Given the description of an element on the screen output the (x, y) to click on. 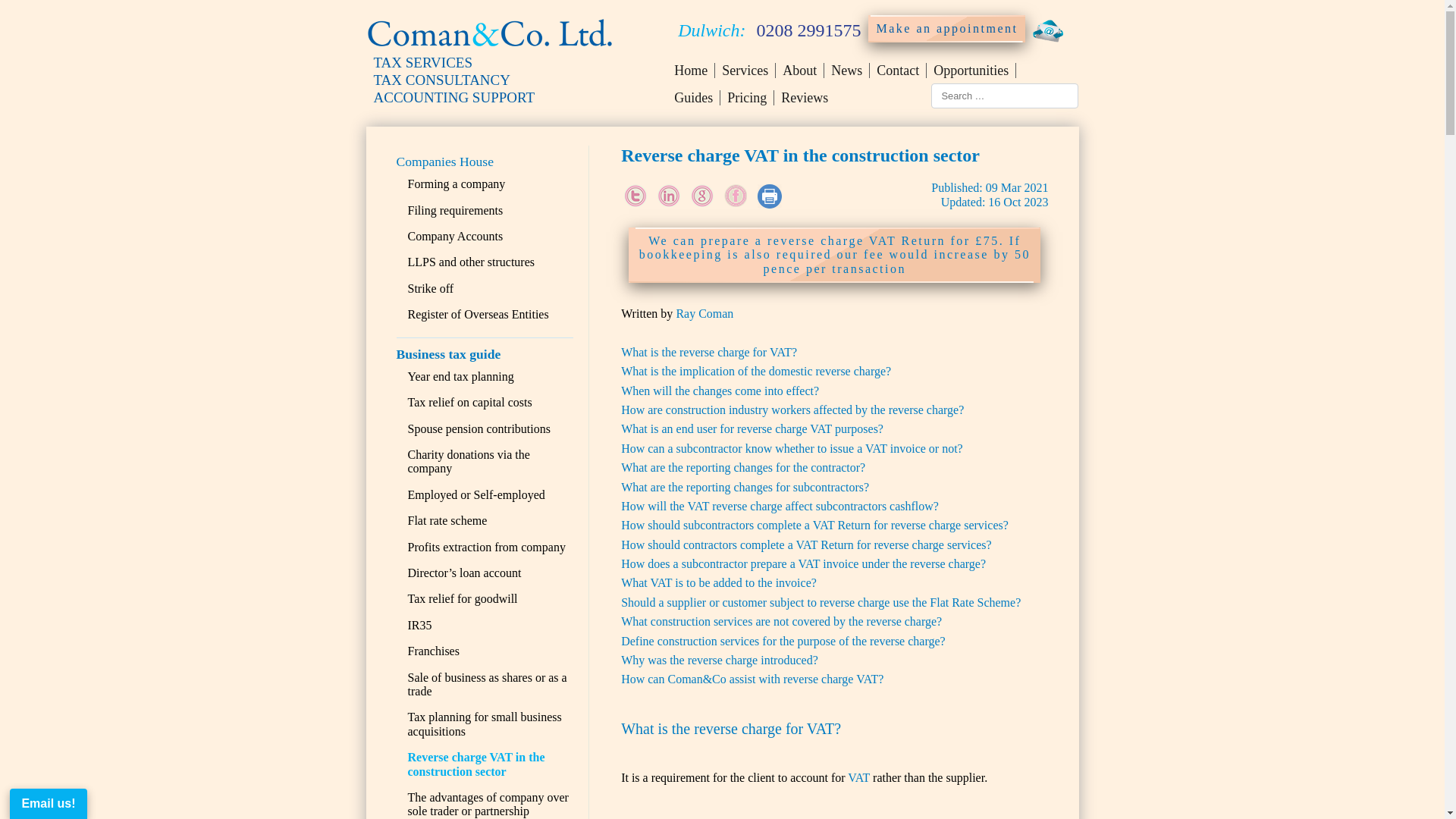
Guides (697, 97)
Contact (897, 70)
Tax relief for goodwill (462, 598)
The advantages of company over sole trader or partnership (488, 804)
Tax relief on capital costs (469, 401)
Franchises (433, 650)
Spouse pension contributions (478, 428)
IR35 (419, 625)
Filing requirements (455, 210)
LLPS and other structures (471, 261)
Sale of business as shares or as a trade (487, 683)
Pricing (747, 97)
Services (745, 70)
Year end tax planning (460, 376)
News (846, 70)
